Given the description of an element on the screen output the (x, y) to click on. 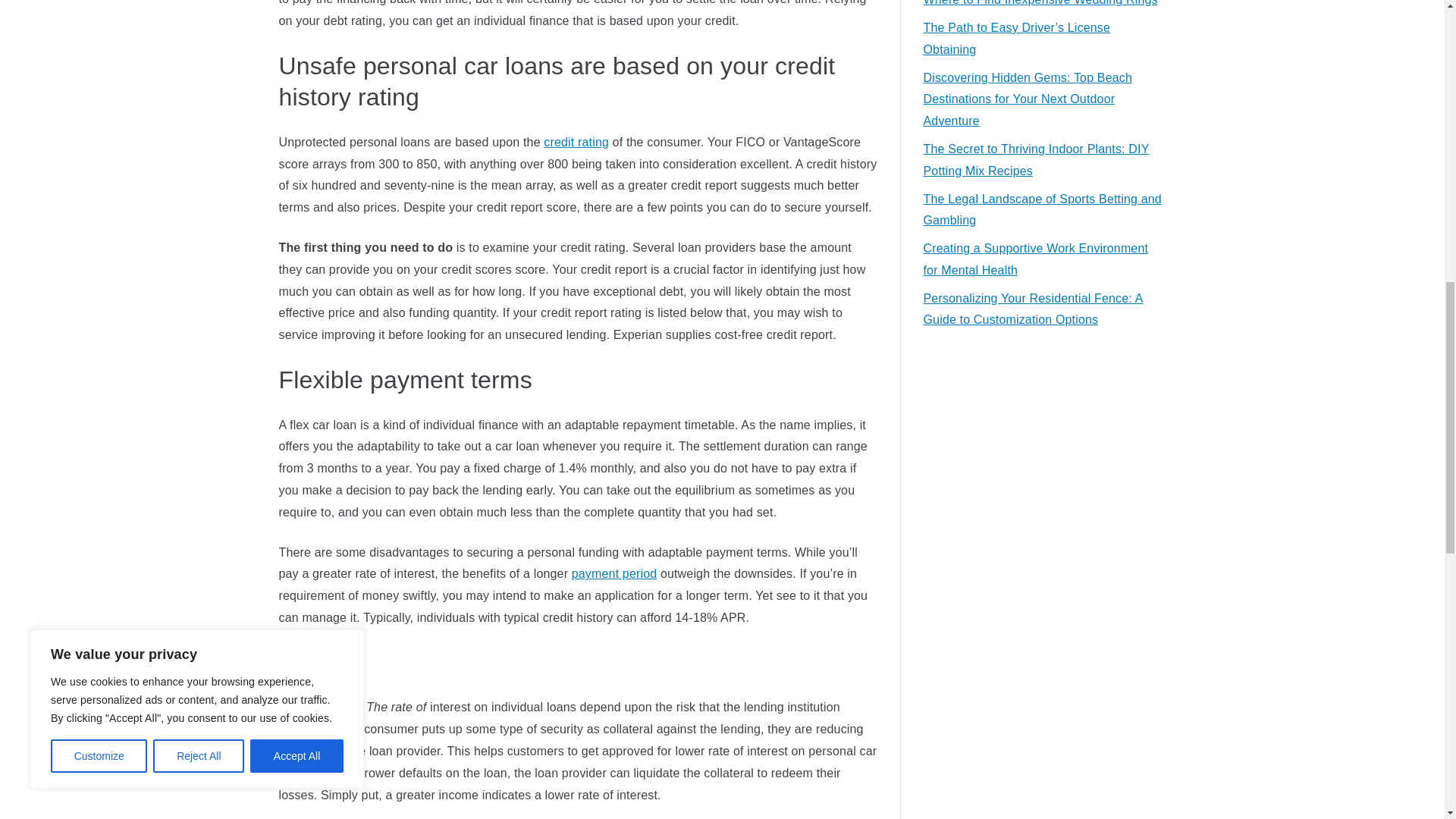
credit rating (575, 141)
payment period (615, 573)
